Given the description of an element on the screen output the (x, y) to click on. 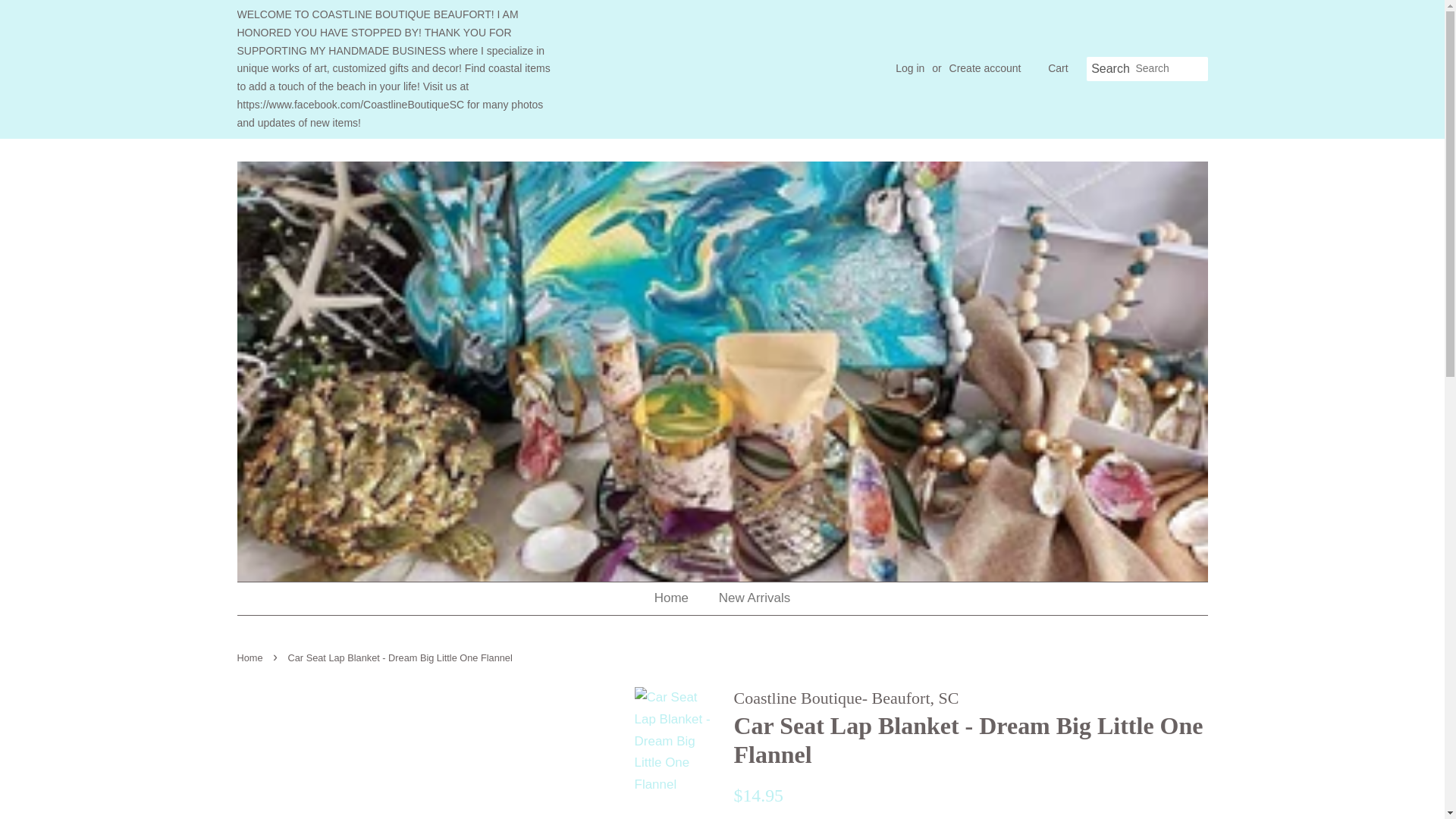
Create account (985, 68)
Home (678, 598)
New Arrivals (748, 598)
Cart (1057, 68)
Log in (909, 68)
Home (250, 657)
Back to the frontpage (250, 657)
Search (1110, 68)
